Given the description of an element on the screen output the (x, y) to click on. 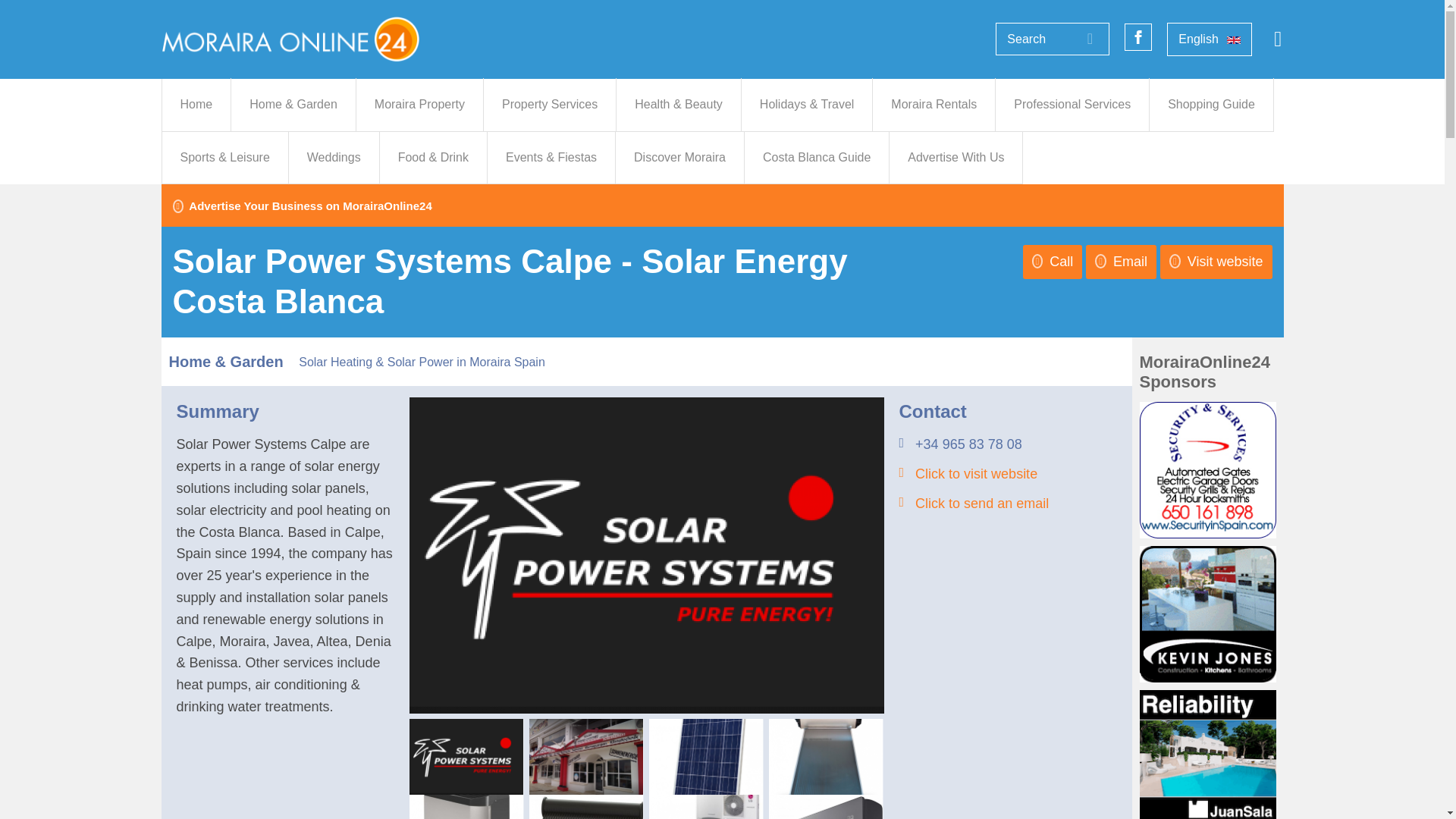
English (1209, 39)
Moraira Online 24 (289, 38)
Home (196, 104)
